Given the description of an element on the screen output the (x, y) to click on. 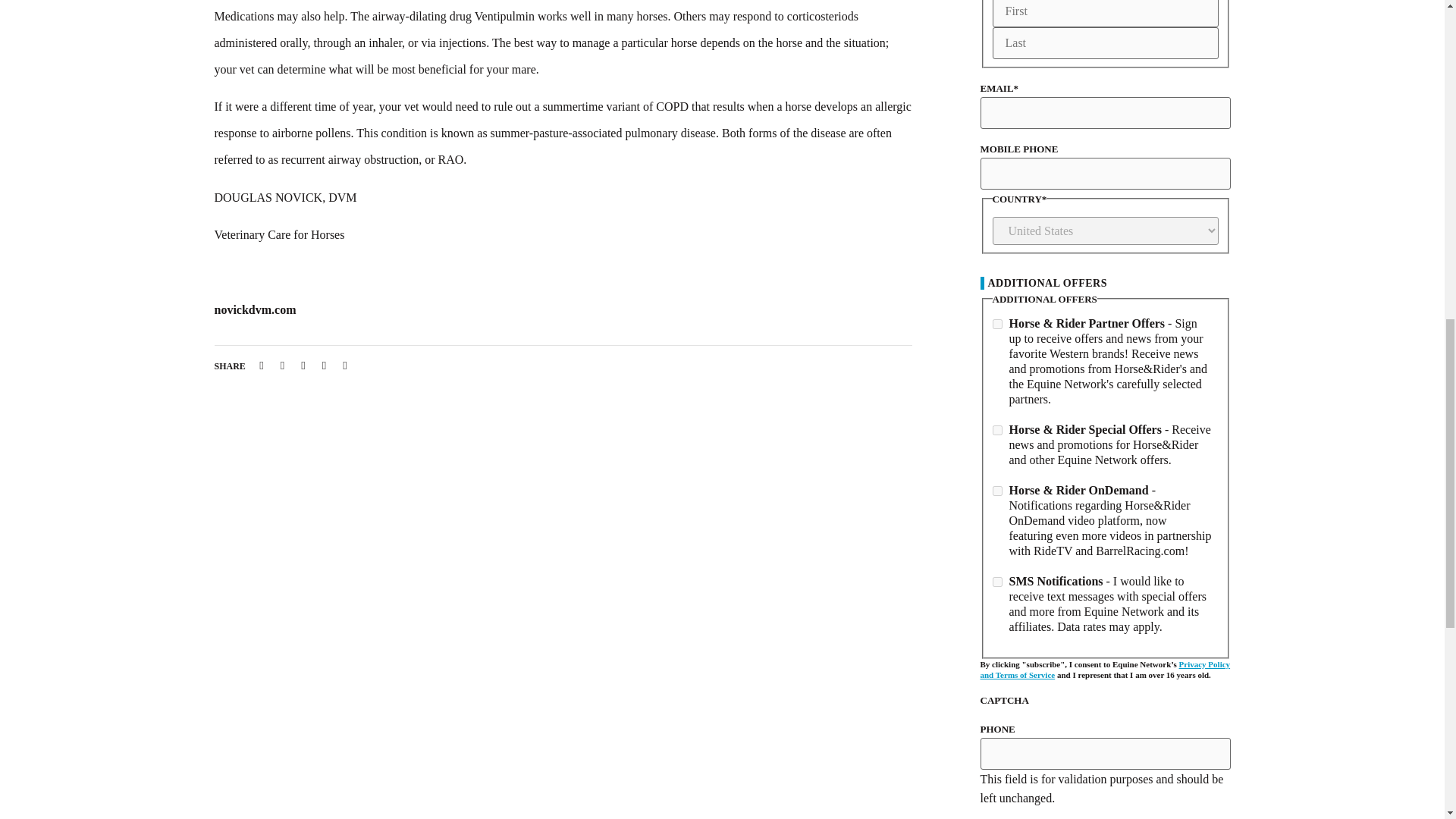
4d4d6b60-fd63-4a08-9985-dfc93d0e8a7e (996, 491)
6e0952f2-008d-4794-b1f3-dd0176807a6c (996, 429)
SMS Notifications (996, 582)
eb22c362-2761-498e-ac7c-53e16cf3c1e4 (996, 324)
Subscribe (1019, 813)
